Given the description of an element on the screen output the (x, y) to click on. 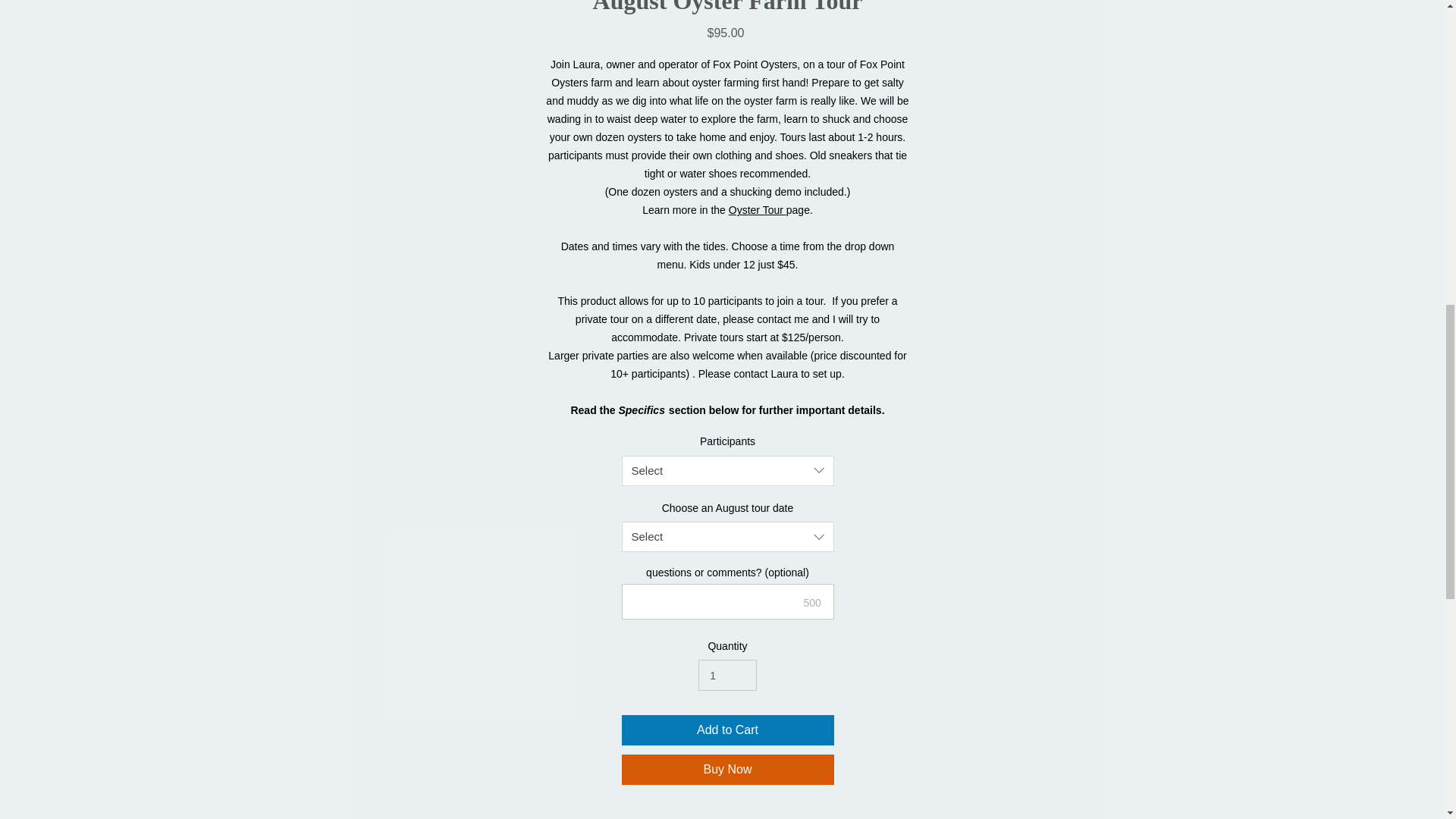
Buy Now (727, 769)
Select (727, 470)
Oyster Tour (757, 209)
Add to Cart (727, 729)
Select (727, 536)
1 (726, 675)
